Given the description of an element on the screen output the (x, y) to click on. 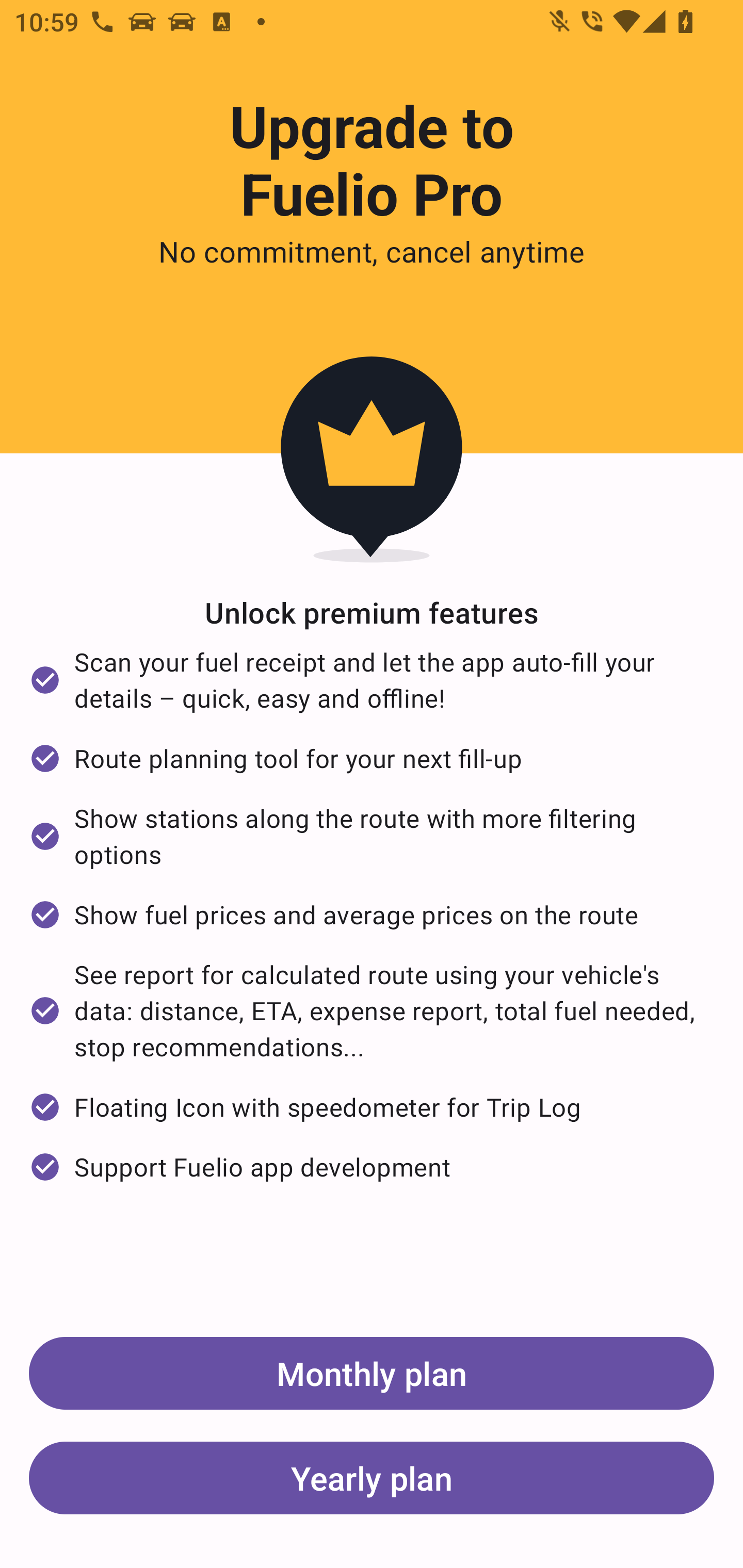
Monthly plan (371, 1373)
Yearly plan (371, 1477)
